Given the description of an element on the screen output the (x, y) to click on. 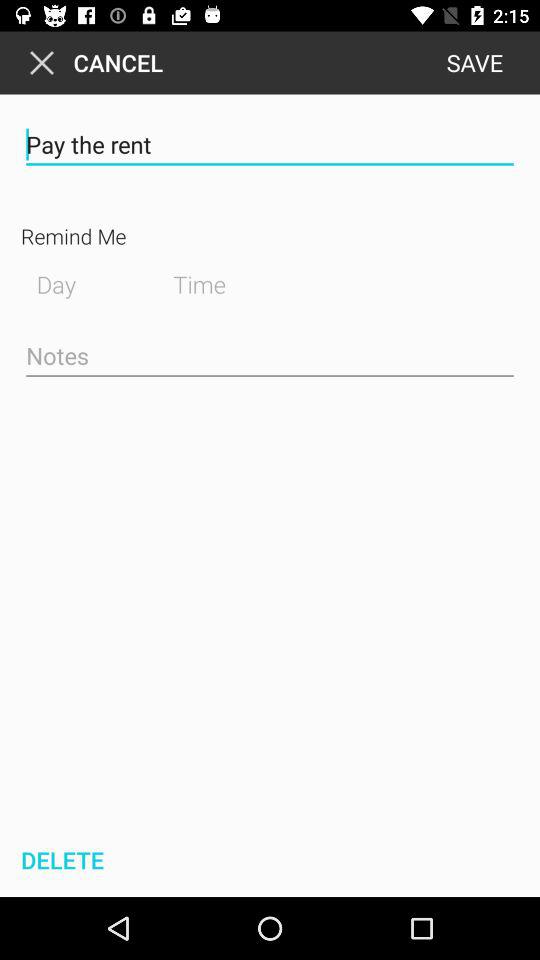
swipe until the cancel icon (92, 62)
